Given the description of an element on the screen output the (x, y) to click on. 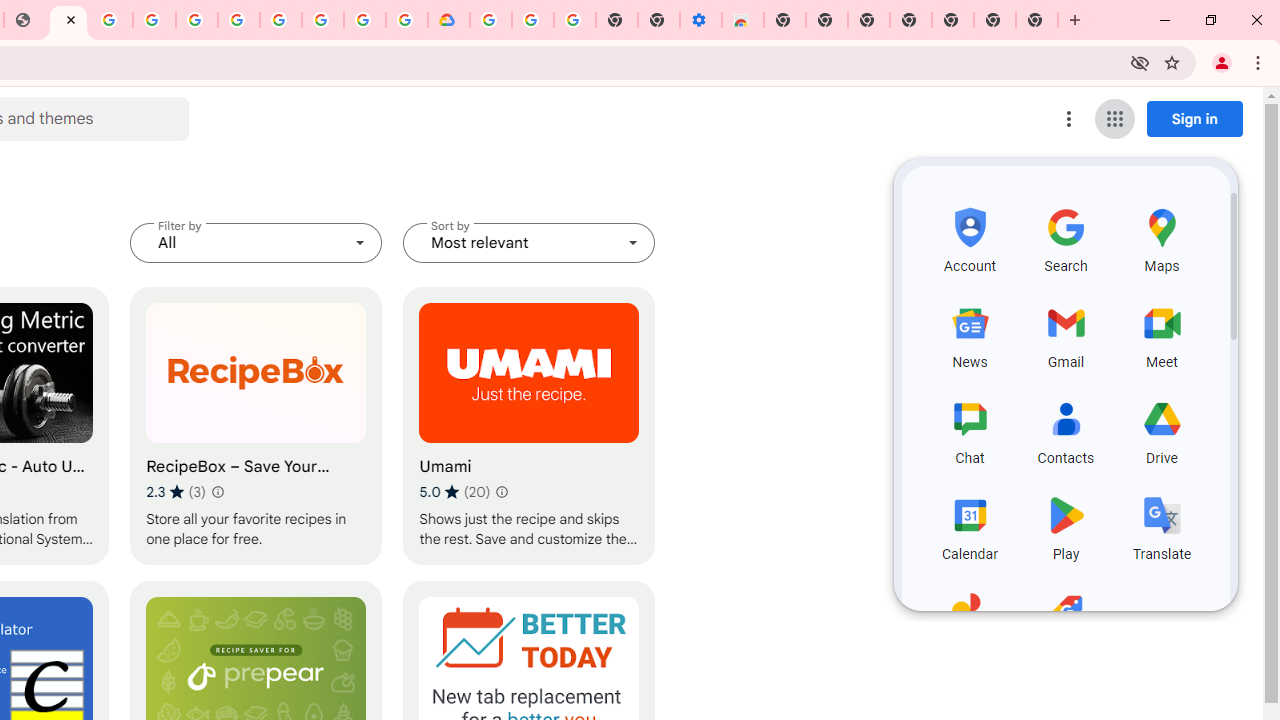
Ad Settings (154, 20)
Average rating 2.3 out of 5 stars. 3 ratings. (176, 491)
Google Account Help (238, 20)
Sort by Most relevant (529, 242)
